Given the description of an element on the screen output the (x, y) to click on. 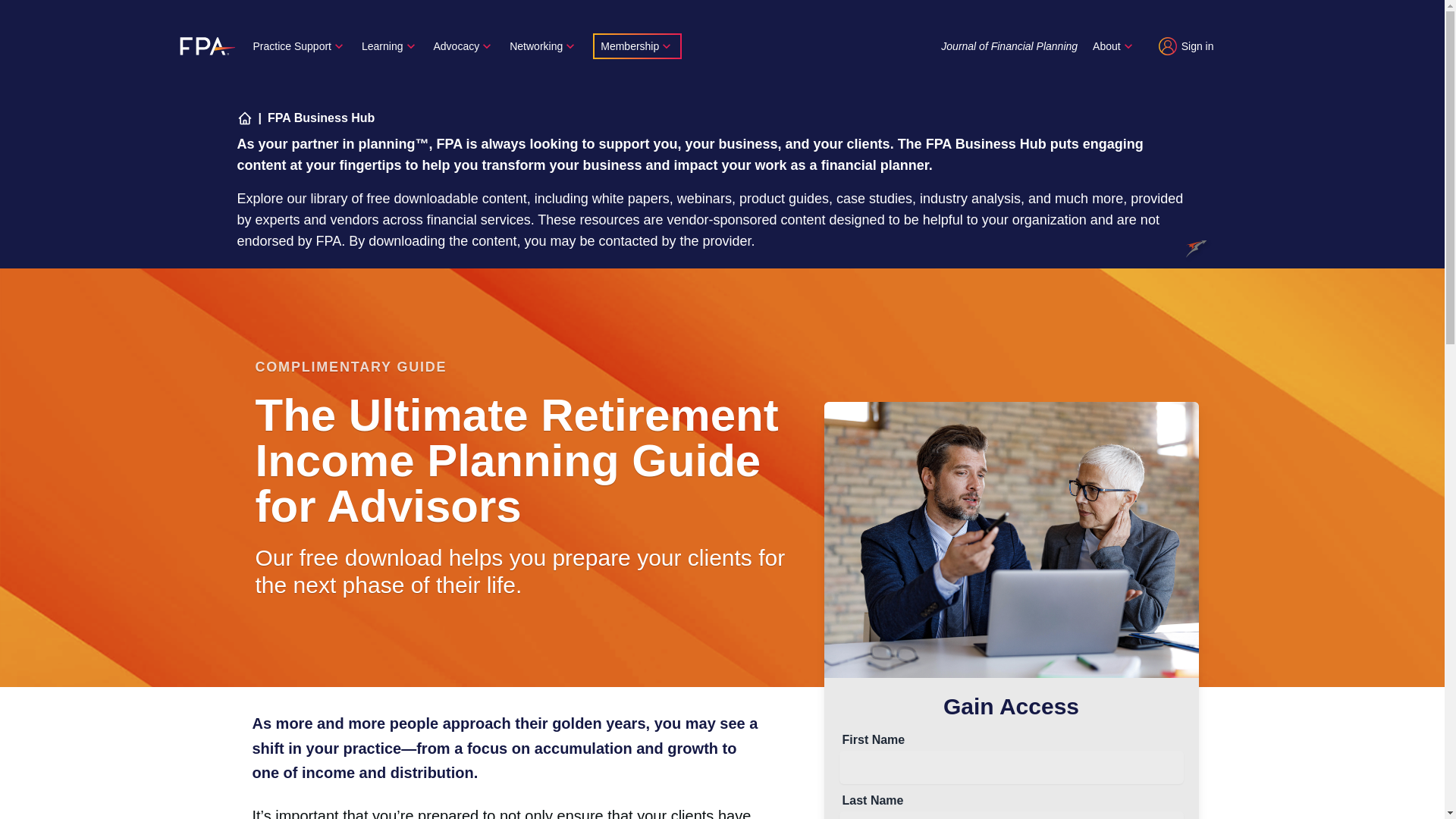
Advocacy (464, 46)
Networking (543, 46)
Membership (636, 46)
Practice Support (300, 46)
Learning (390, 46)
